Given the description of an element on the screen output the (x, y) to click on. 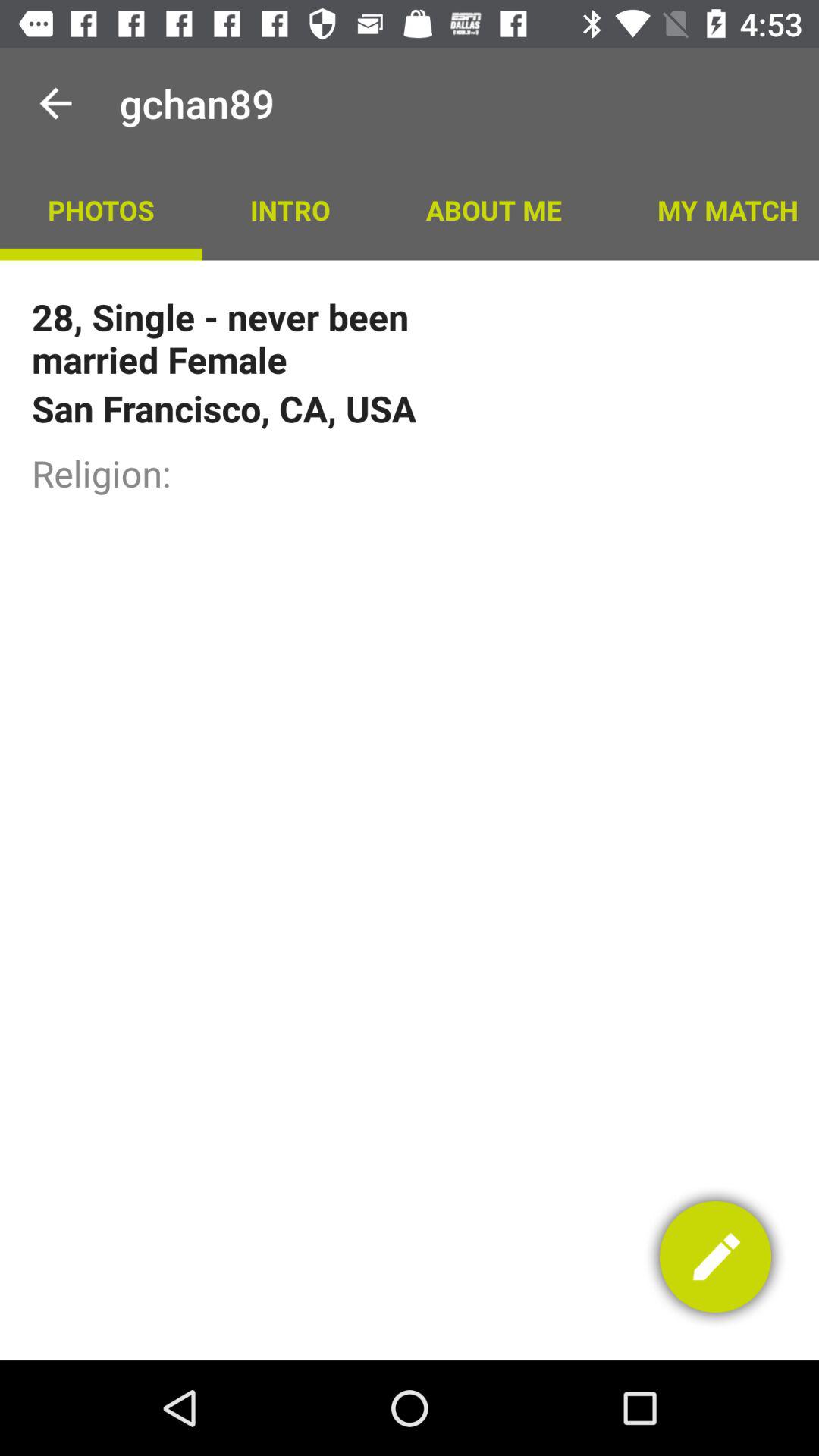
scroll to the about me item (493, 209)
